Given the description of an element on the screen output the (x, y) to click on. 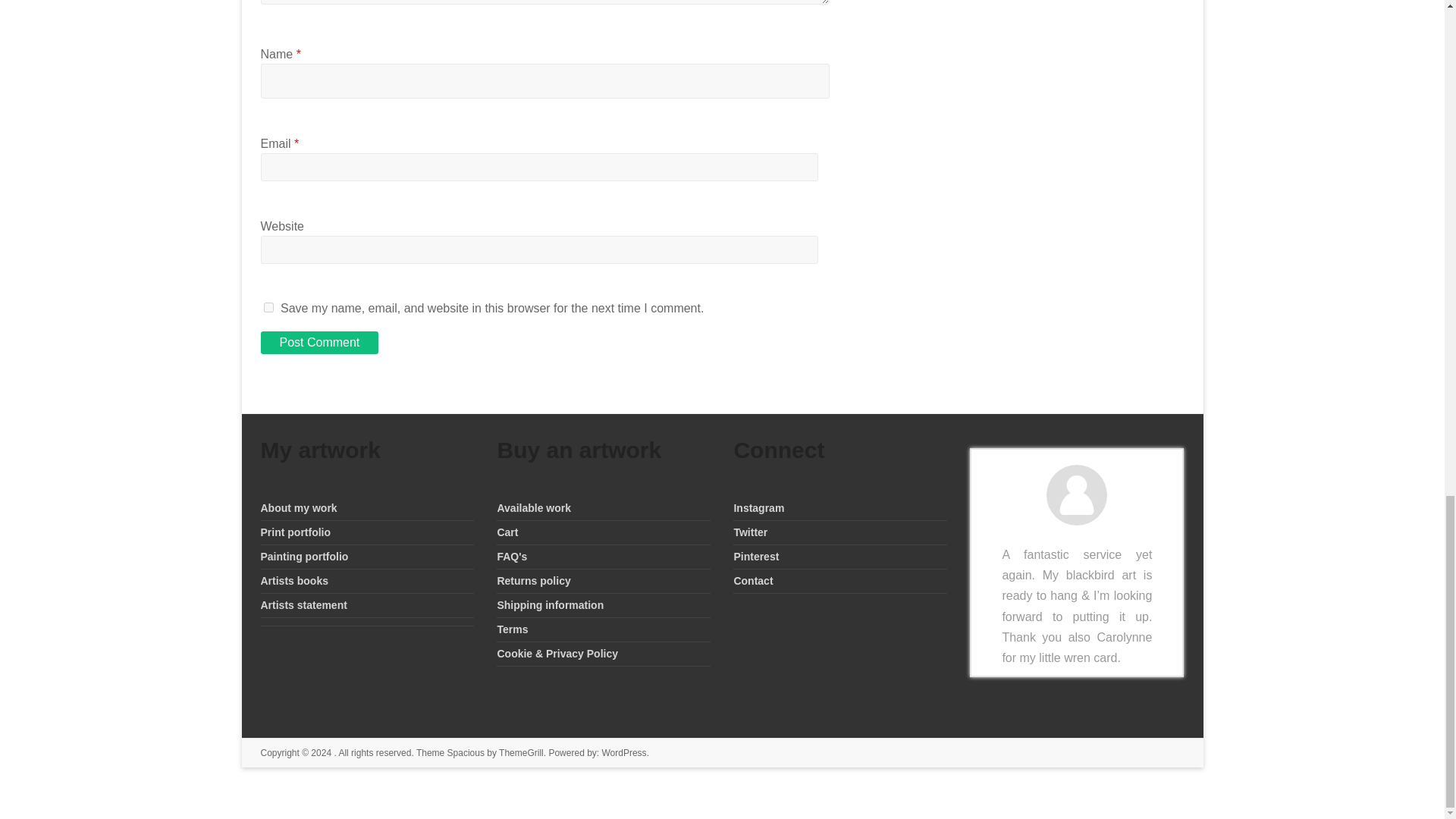
WordPress (623, 752)
Post Comment (319, 342)
Spacious (465, 752)
yes (268, 307)
